Given the description of an element on the screen output the (x, y) to click on. 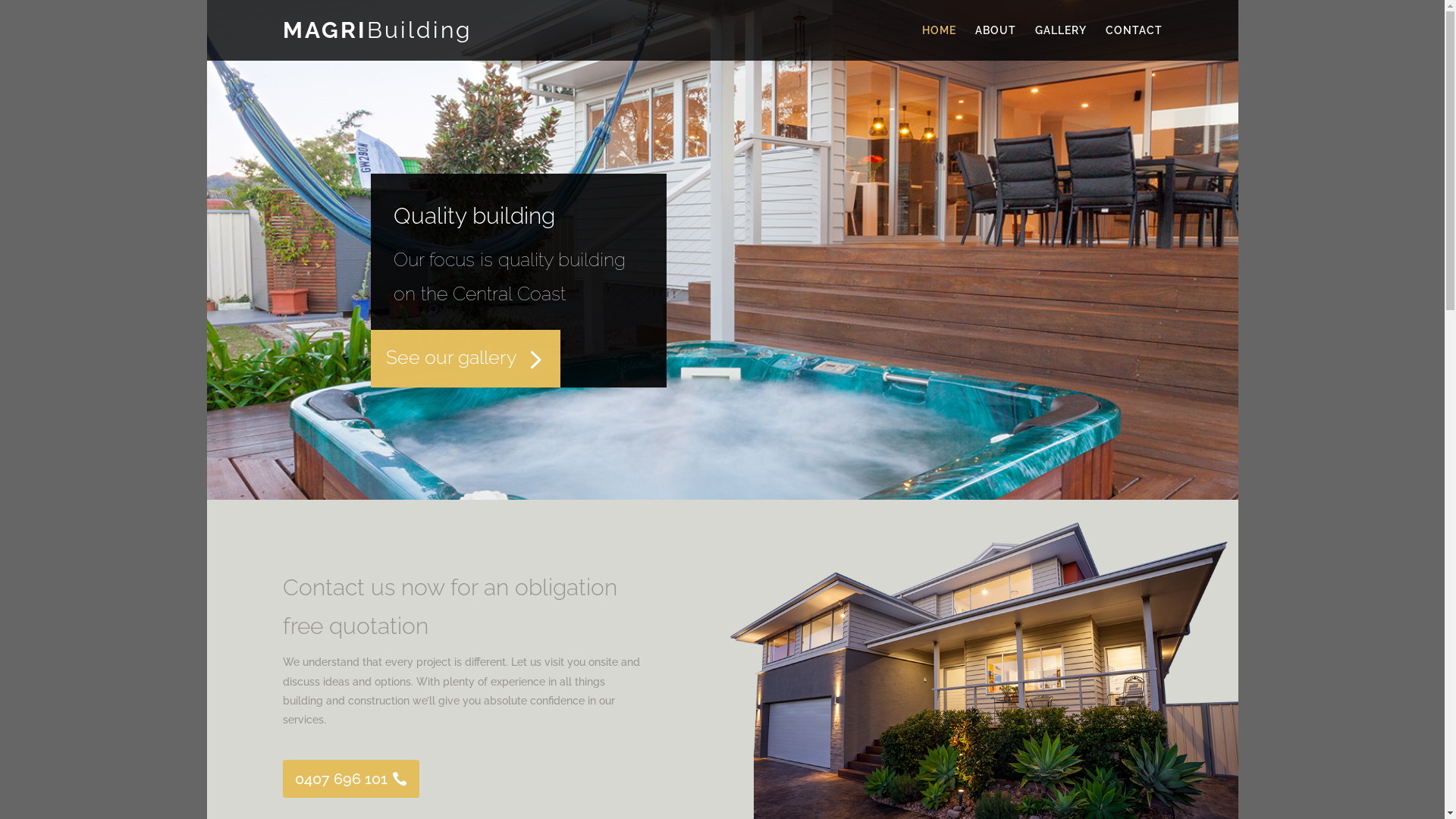
CONTACT Element type: text (1133, 42)
ABOUT Element type: text (995, 42)
0407 696 101 Element type: text (350, 778)
MAGRIBuilding Element type: text (376, 34)
HOME Element type: text (939, 42)
See our gallery Element type: text (450, 356)
GALLERY Element type: text (1059, 42)
